Given the description of an element on the screen output the (x, y) to click on. 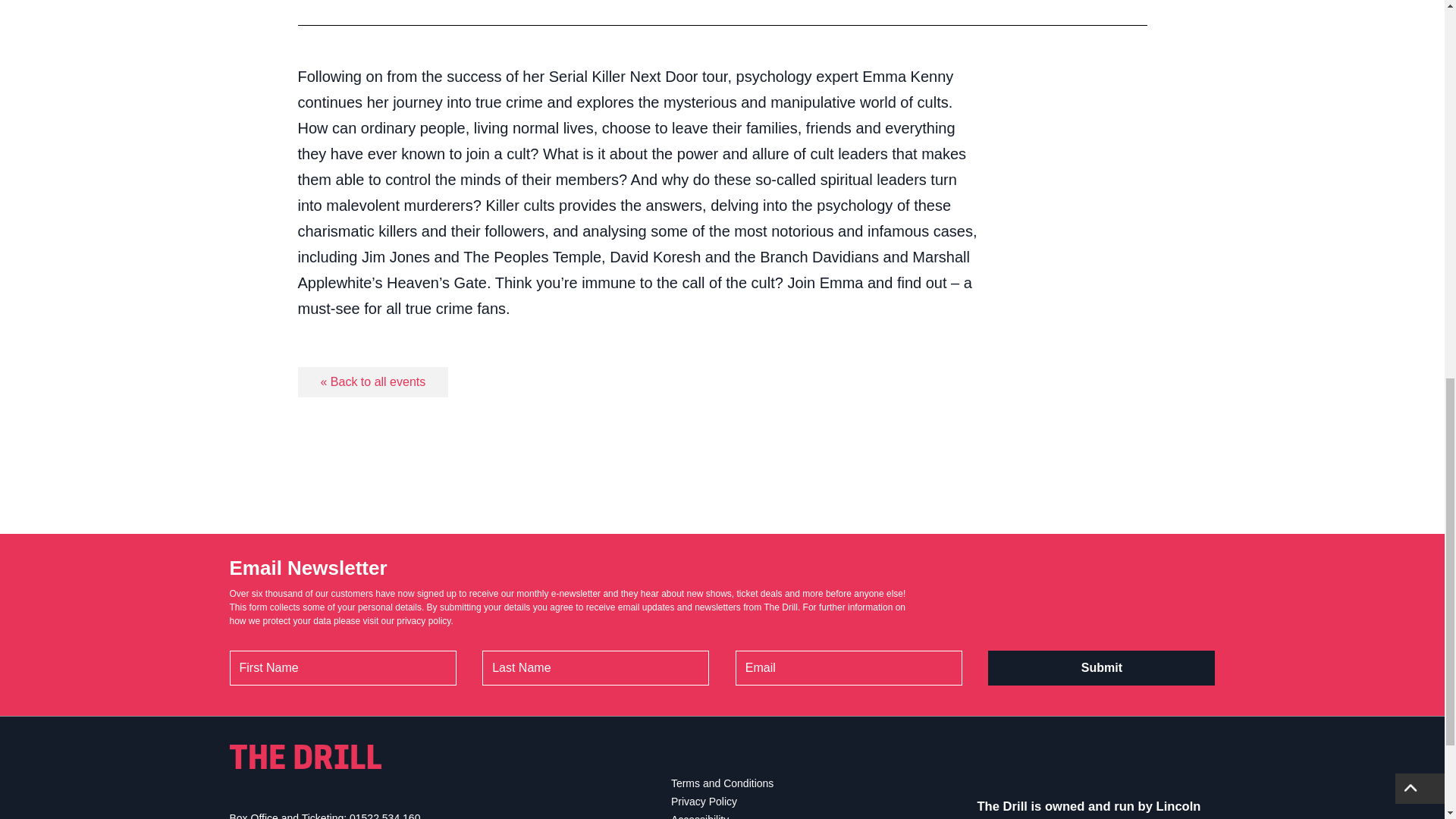
Terms and Conditions (722, 783)
privacy policy (422, 620)
Submit (1101, 667)
Submit (1101, 667)
01522 534 160 (384, 815)
Privacy Policy (703, 801)
Accessibility (700, 816)
